Given the description of an element on the screen output the (x, y) to click on. 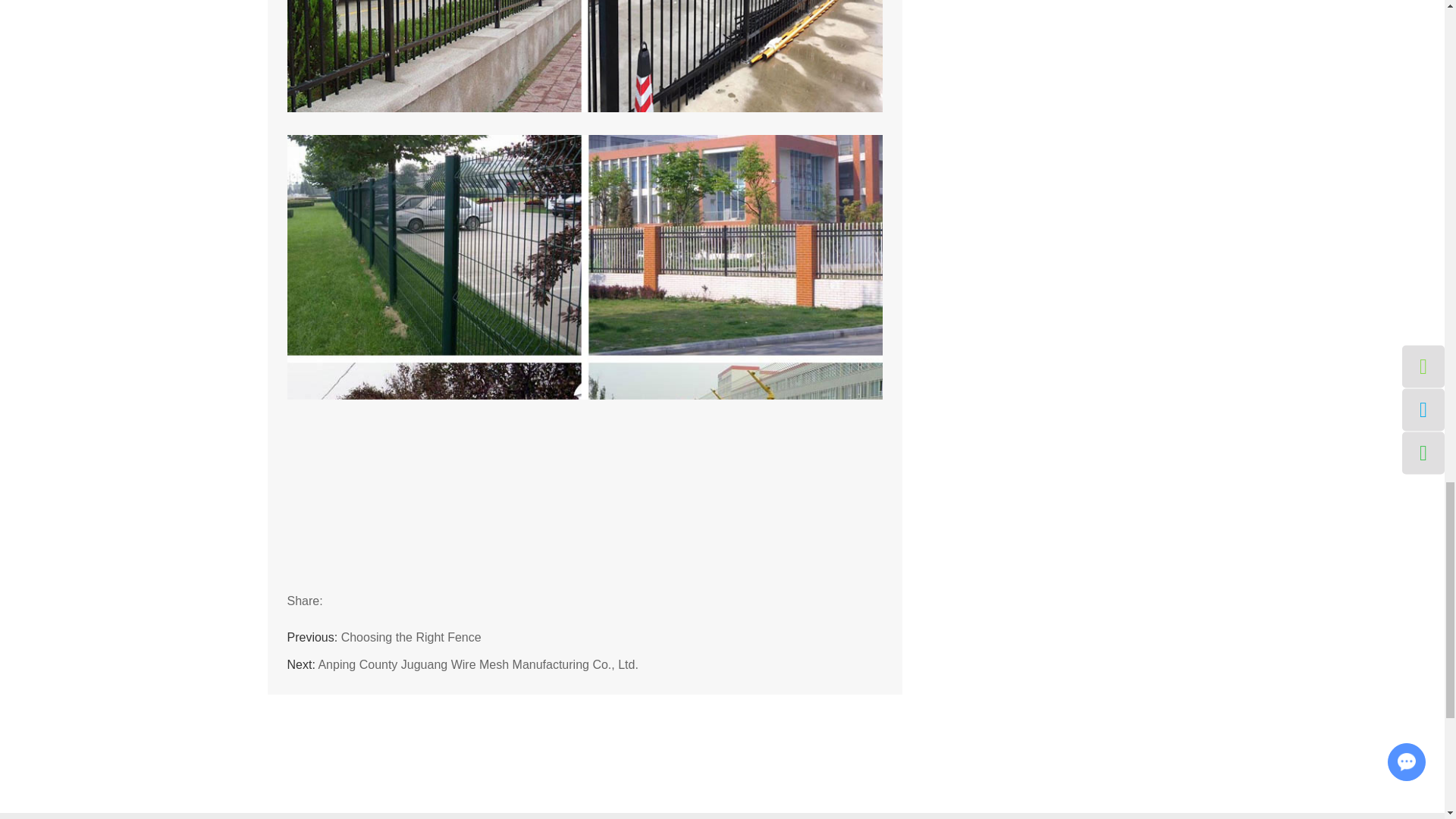
Choosing the Right Fence (410, 636)
5 Reasons You Need A Fence Around Your Property (584, 56)
Anping County Juguang Wire Mesh Manufacturing Co., Ltd. (477, 664)
Anping County Juguang Wire Mesh Manufacturing Co., Ltd. (477, 664)
Choosing the Right Fence (410, 636)
